Given the description of an element on the screen output the (x, y) to click on. 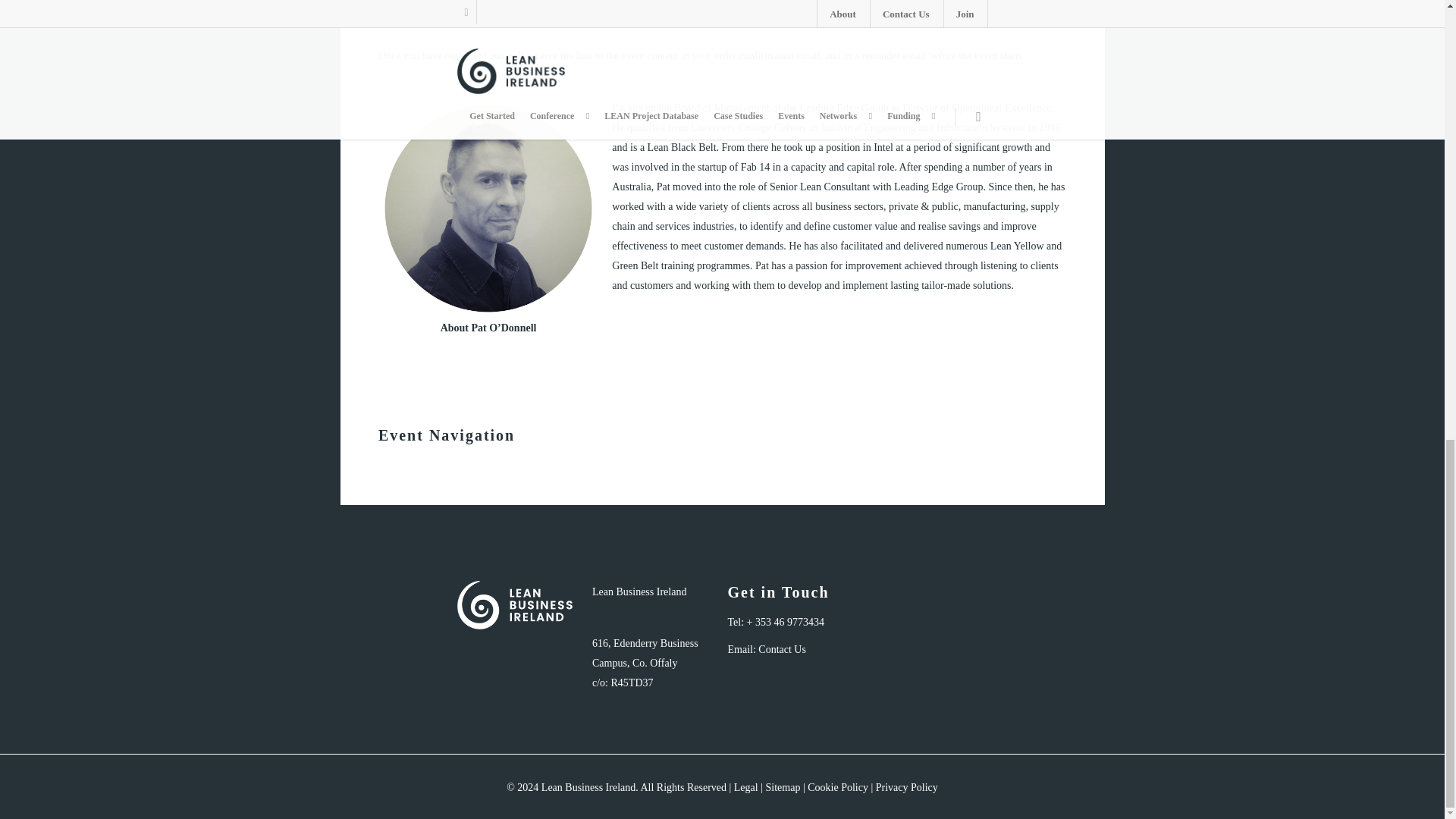
Legal (745, 787)
Privacy Policy (906, 787)
here (429, 4)
Contact Us (782, 649)
Cookie Policy (837, 787)
Sitemap (782, 787)
